Given the description of an element on the screen output the (x, y) to click on. 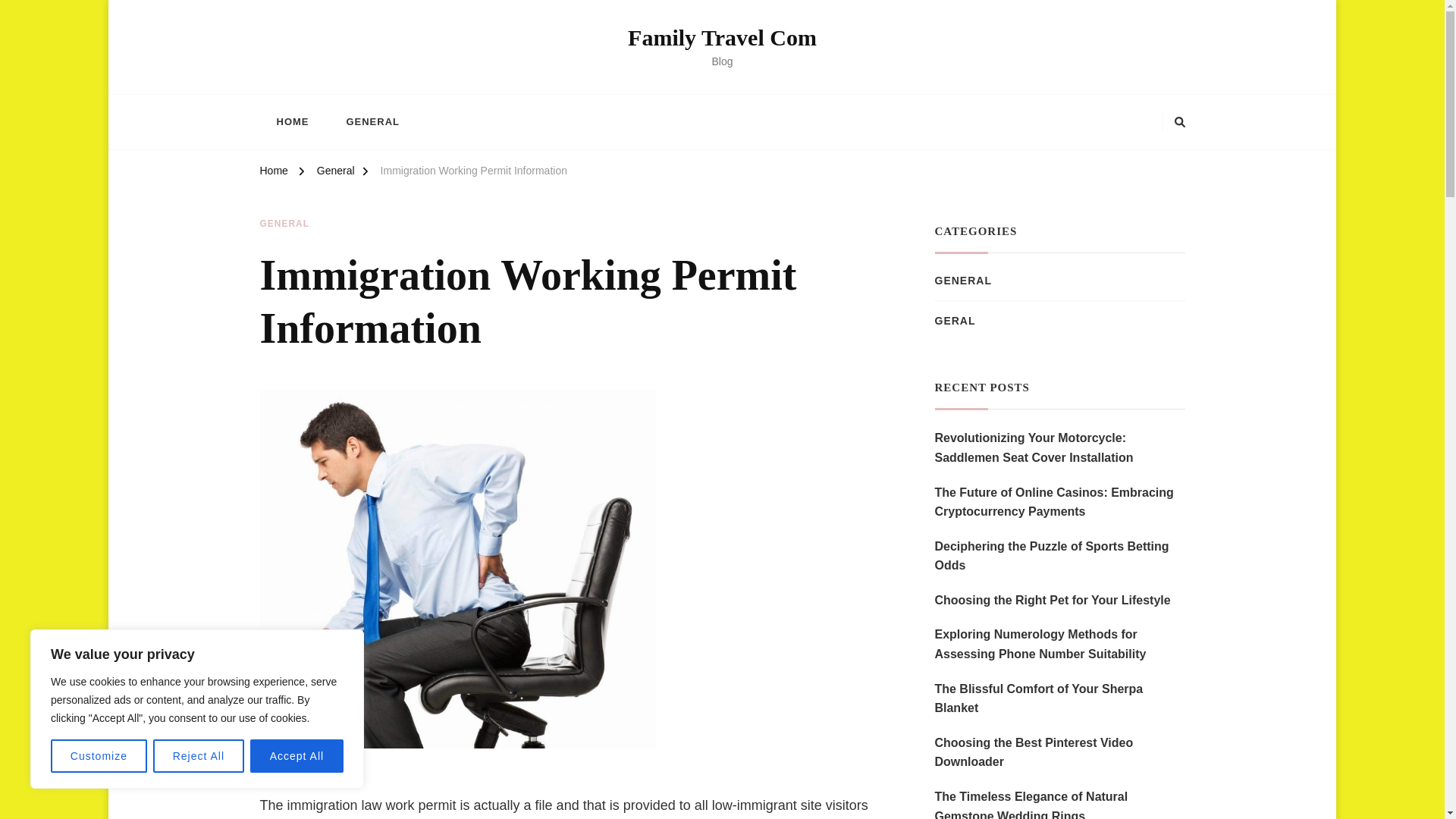
GENERAL (371, 121)
Family Travel Com (721, 37)
Customize (98, 756)
HOME (291, 121)
Reject All (198, 756)
General (336, 172)
Accept All (296, 756)
Home (272, 172)
GENERAL (283, 223)
Immigration Working Permit Information (473, 172)
